Given the description of an element on the screen output the (x, y) to click on. 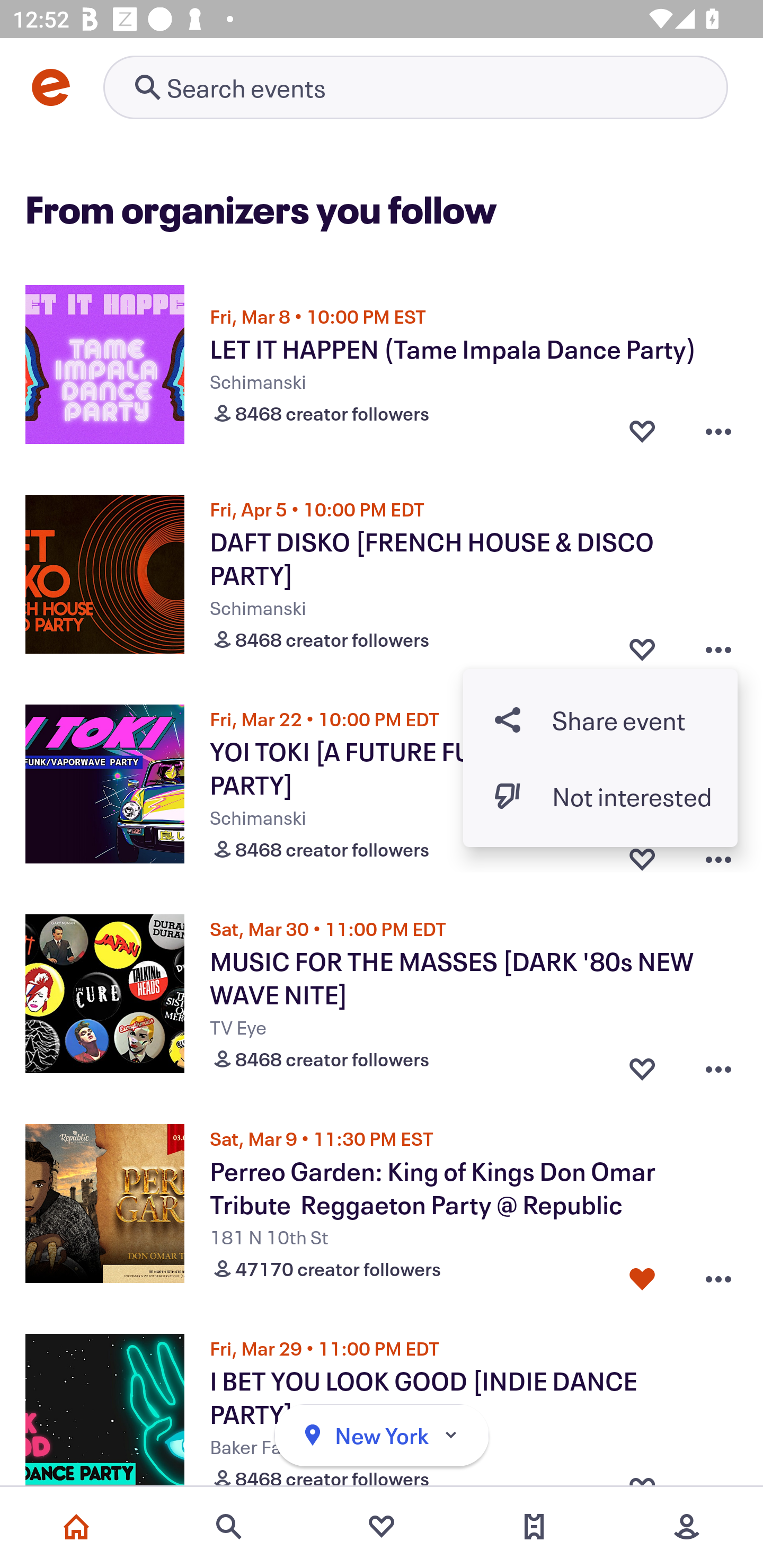
Share button Share event (600, 719)
Dislike event button Not interested (600, 795)
